Given the description of an element on the screen output the (x, y) to click on. 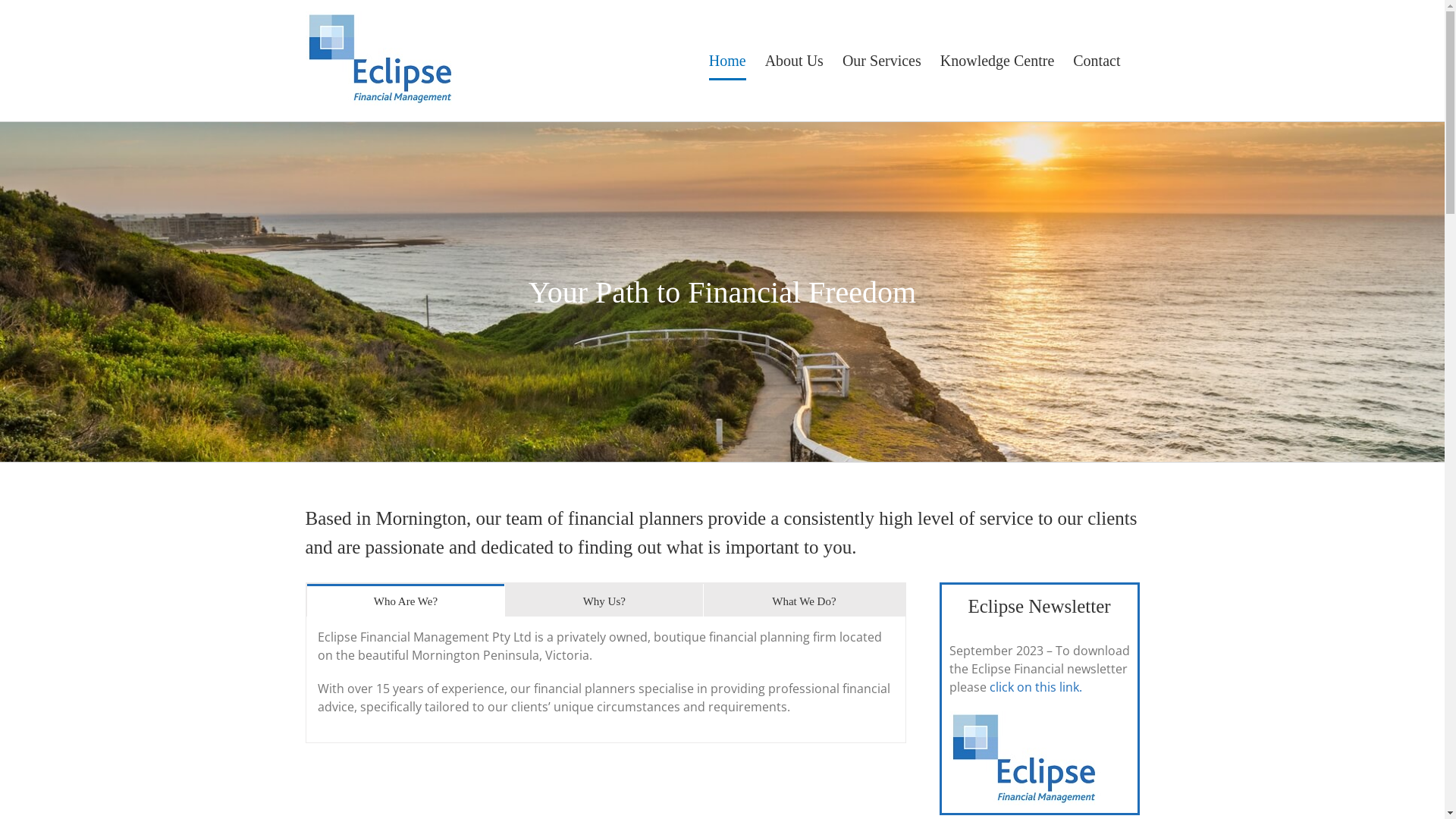
Our Services Element type: text (881, 60)
Contact Element type: text (1096, 60)
Who Are We? Element type: text (405, 599)
EclipseFM-logo-2017 Element type: hover (1025, 758)
Why Us? Element type: text (603, 599)
About Us Element type: text (794, 60)
What We Do? Element type: text (803, 599)
click on this link. Element type: text (1034, 686)
Home Element type: text (727, 60)
Knowledge Centre Element type: text (997, 60)
